Given the description of an element on the screen output the (x, y) to click on. 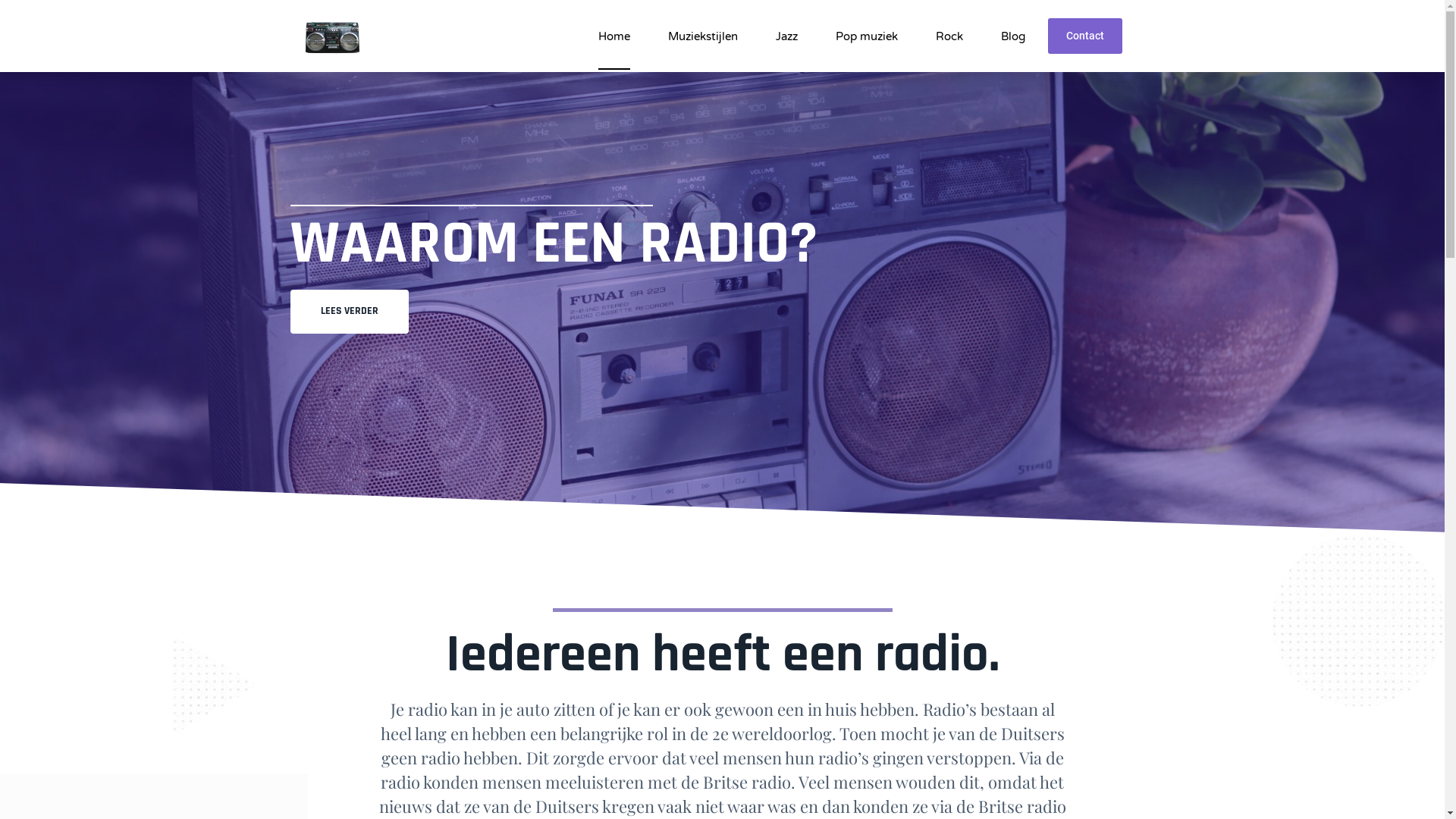
Pop muziek Element type: text (866, 36)
Contact Element type: text (1085, 36)
Blog Element type: text (1013, 36)
Home Element type: text (614, 36)
Jazz Element type: text (786, 36)
LEES VERDER Element type: text (348, 311)
Babs Radio Element type: hover (332, 35)
Muziekstijlen Element type: text (702, 36)
Rock Element type: text (949, 36)
